Given the description of an element on the screen output the (x, y) to click on. 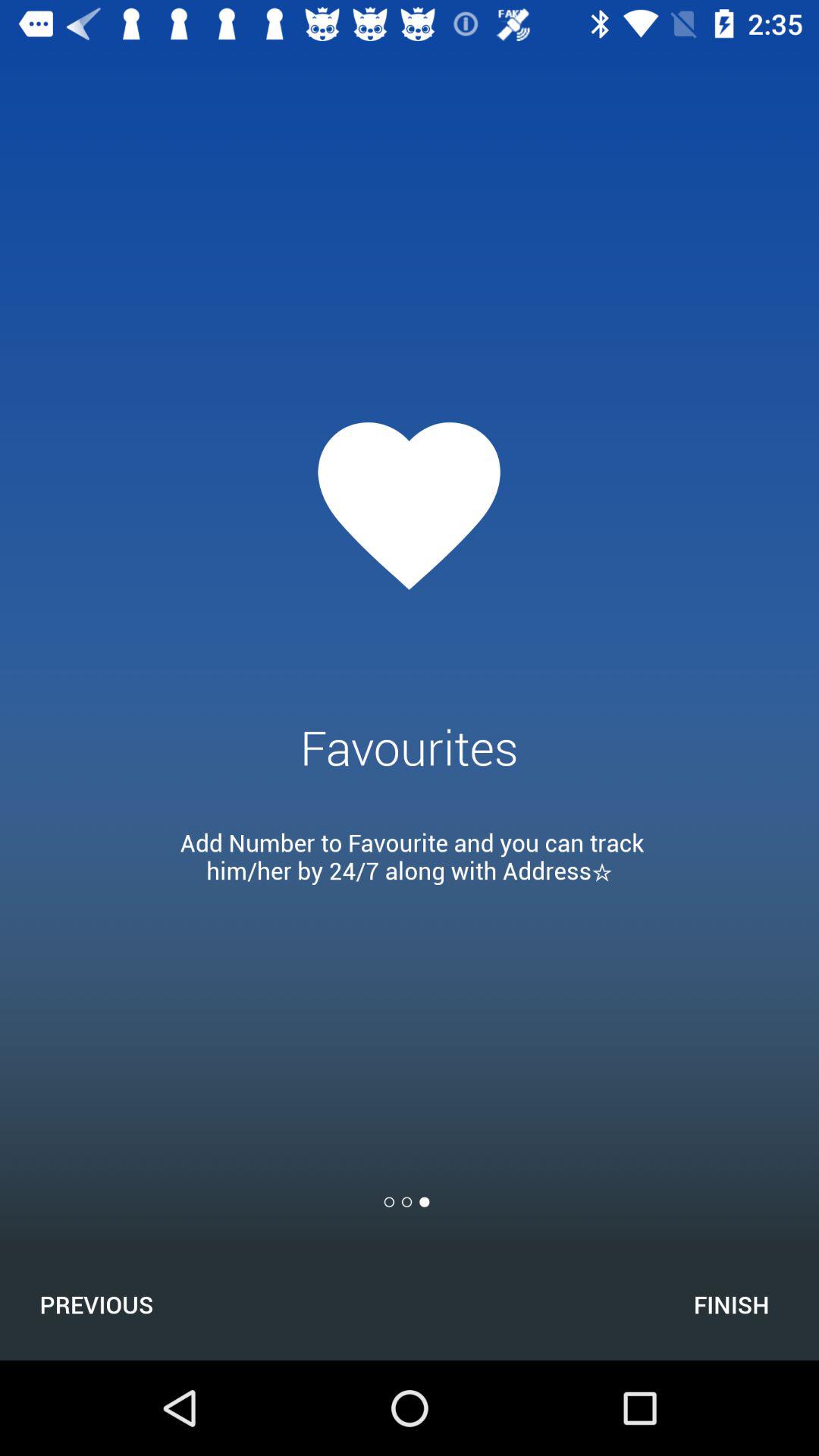
scroll until previous item (96, 1304)
